Given the description of an element on the screen output the (x, y) to click on. 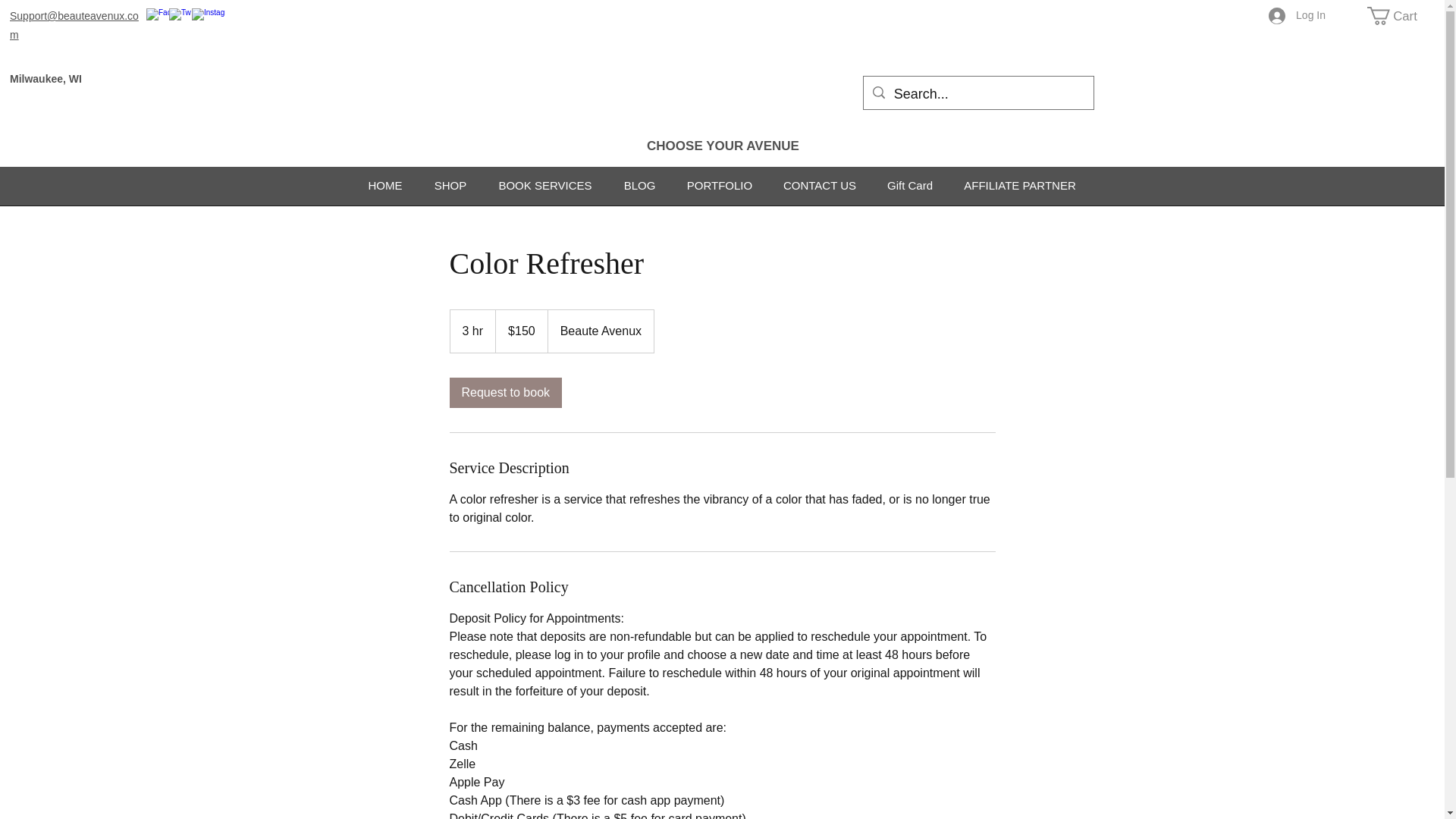
PORTFOLIO (719, 185)
BOOK SERVICES (544, 185)
BLOG (639, 185)
Cart (1402, 15)
CONTACT US (818, 185)
AFFILIATE PARTNER (1018, 185)
Cart (1402, 15)
Request to book (505, 392)
HOME (384, 185)
Gift Card (910, 185)
Log In (1296, 15)
